Given the description of an element on the screen output the (x, y) to click on. 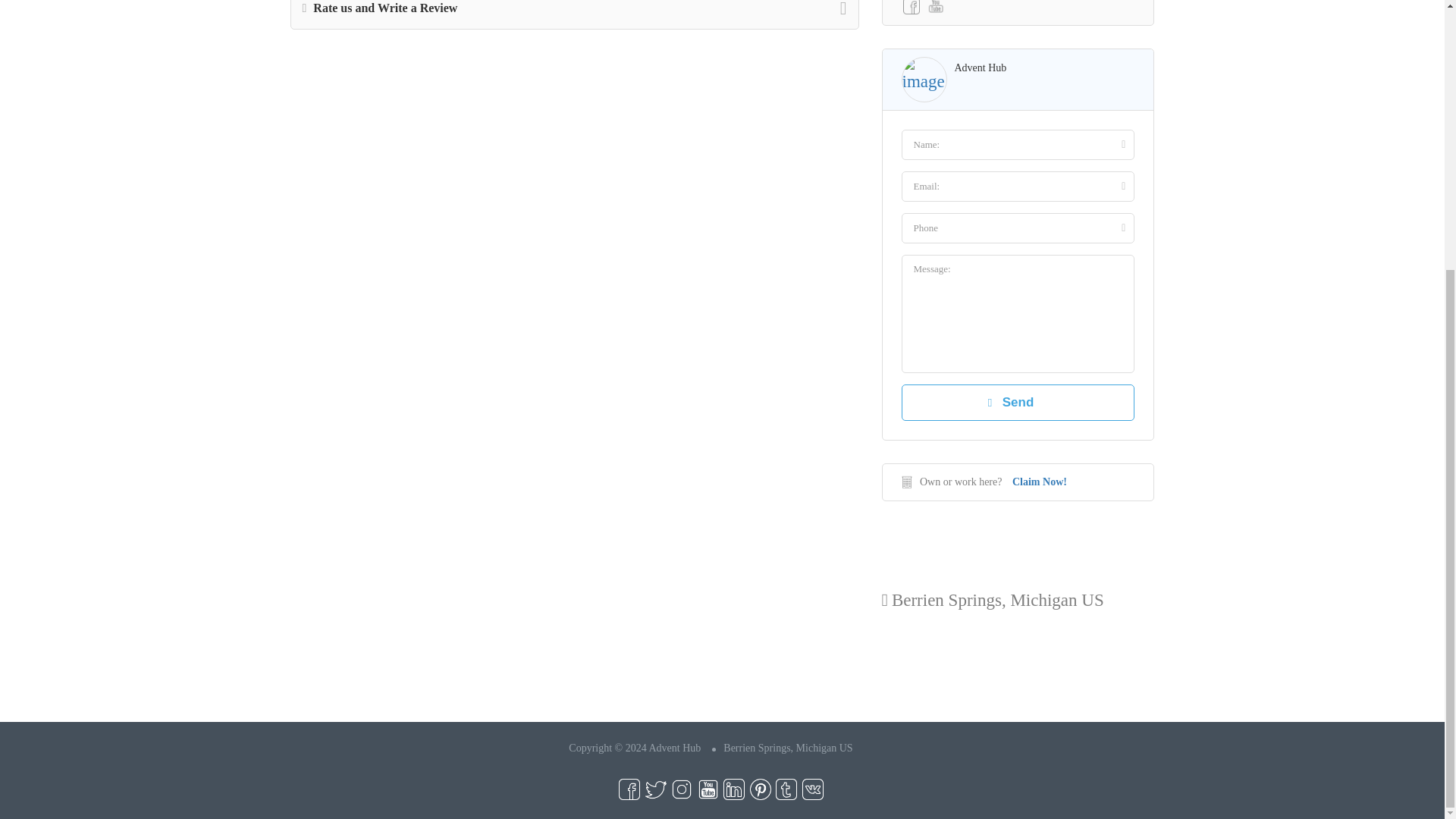
Submit (413, 108)
Send (1017, 402)
